Given the description of an element on the screen output the (x, y) to click on. 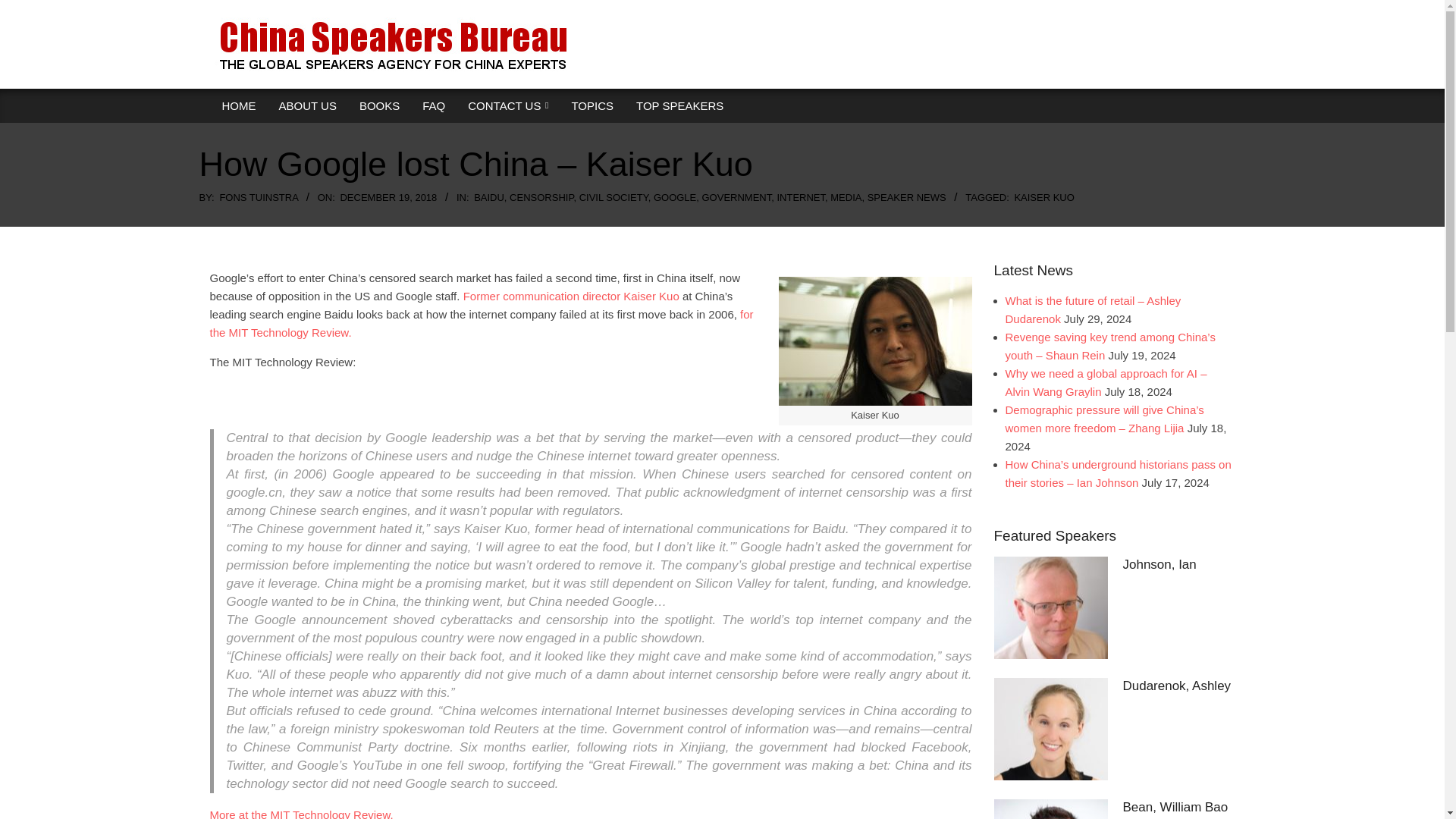
Wednesday, December 19, 2018, 11:47 am (387, 197)
INTERNET (800, 197)
GOVERNMENT (736, 197)
Posts by Fons Tuinstra (258, 197)
SPEAKER NEWS (906, 197)
CONTACT US (508, 105)
BOOKS (378, 105)
CIVIL SOCIETY (613, 197)
GOOGLE (674, 197)
More at the MIT Technology Review. (301, 813)
CENSORSHIP (541, 197)
Former communication director Kaiser Kuo (571, 295)
for the MIT Technology Review. (480, 323)
ABOUT US (306, 105)
Search (24, 8)
